Given the description of an element on the screen output the (x, y) to click on. 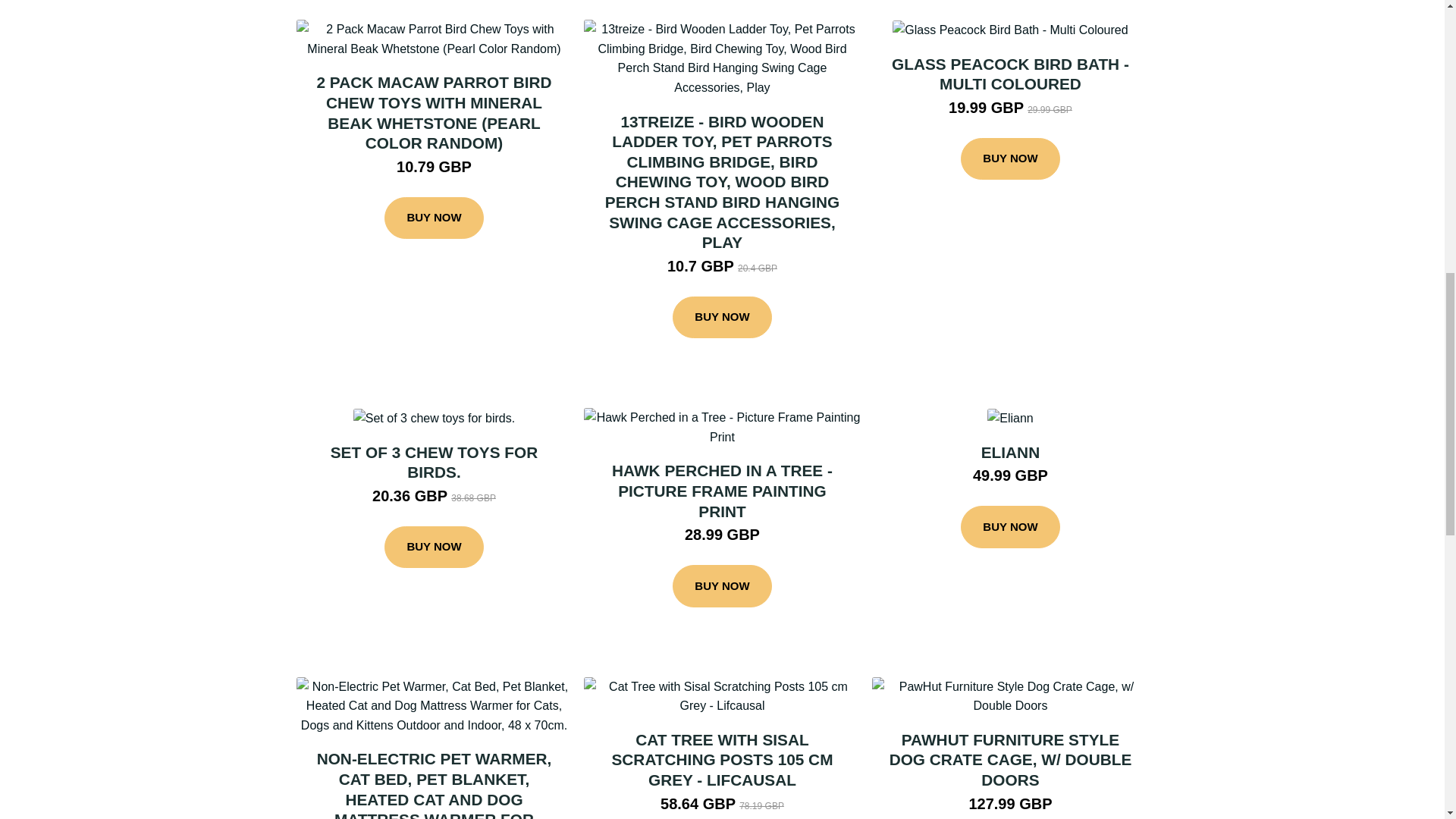
BUY NOW (433, 218)
GLASS PEACOCK BIRD BATH - MULTI COLOURED (1010, 74)
HAWK PERCHED IN A TREE - PICTURE FRAME PAINTING PRINT (721, 490)
BUY NOW (433, 547)
BUY NOW (721, 317)
BUY NOW (1009, 159)
BUY NOW (1009, 526)
CAT TREE WITH SISAL SCRATCHING POSTS 105 CM GREY - LIFCAUSAL (721, 759)
